Given the description of an element on the screen output the (x, y) to click on. 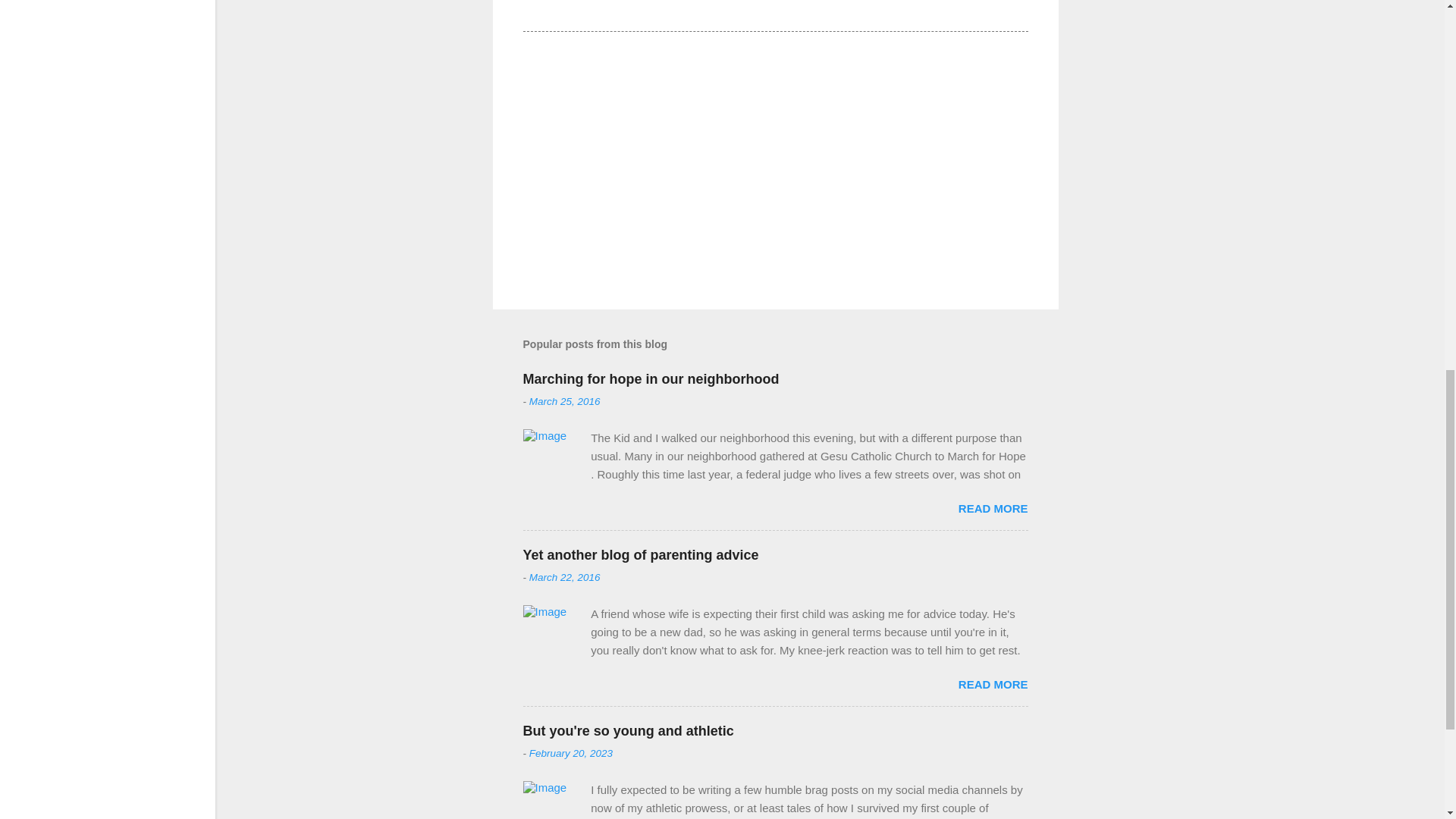
February 20, 2023 (570, 753)
READ MORE (992, 508)
permanent link (564, 401)
READ MORE (992, 684)
But you're so young and athletic (627, 730)
Yet another blog of parenting advice (640, 554)
Marching for hope in our neighborhood (650, 378)
March 25, 2016 (564, 401)
March 22, 2016 (564, 577)
